Given the description of an element on the screen output the (x, y) to click on. 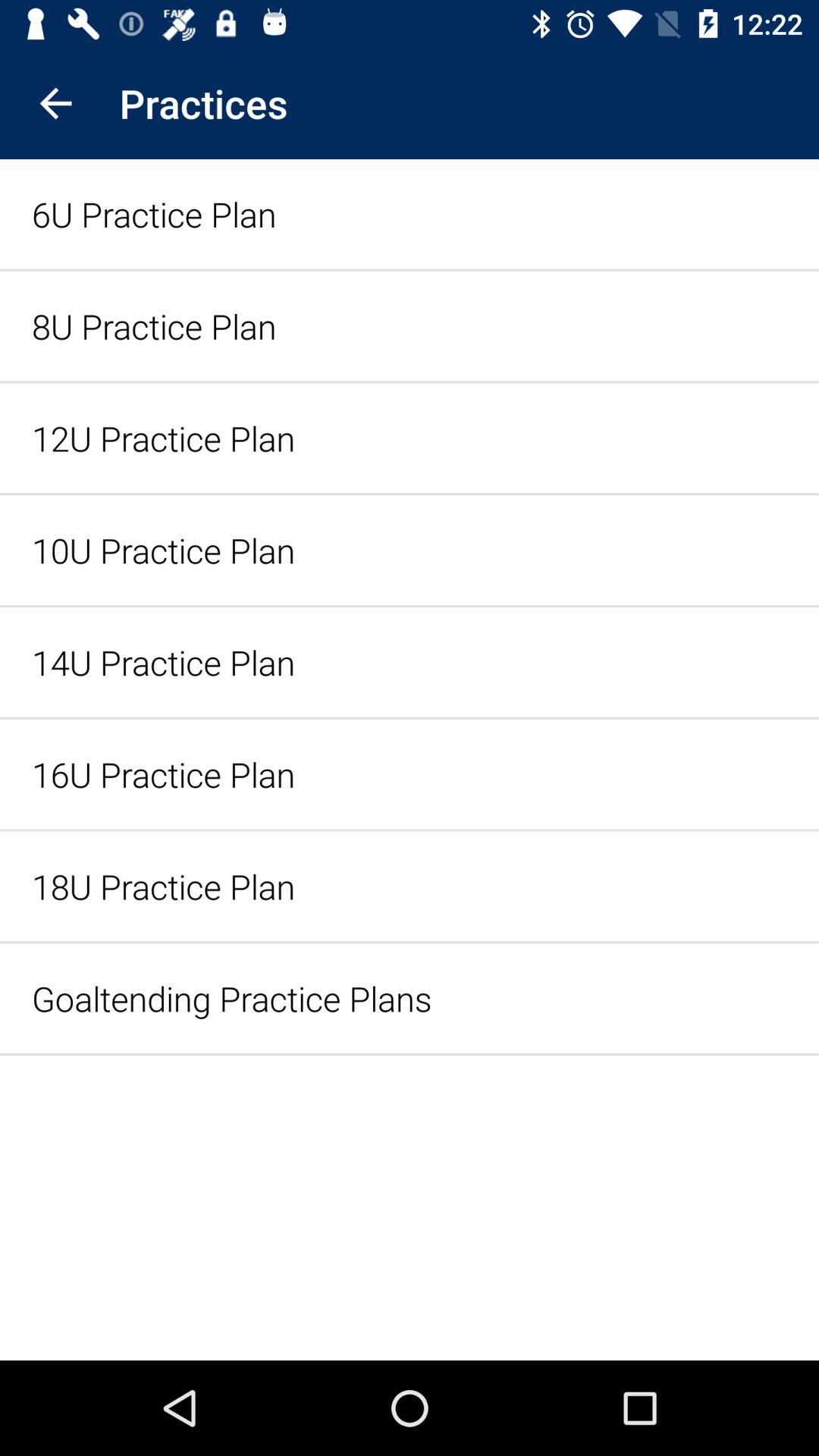
swipe to the goaltending practice plans (409, 998)
